Given the description of an element on the screen output the (x, y) to click on. 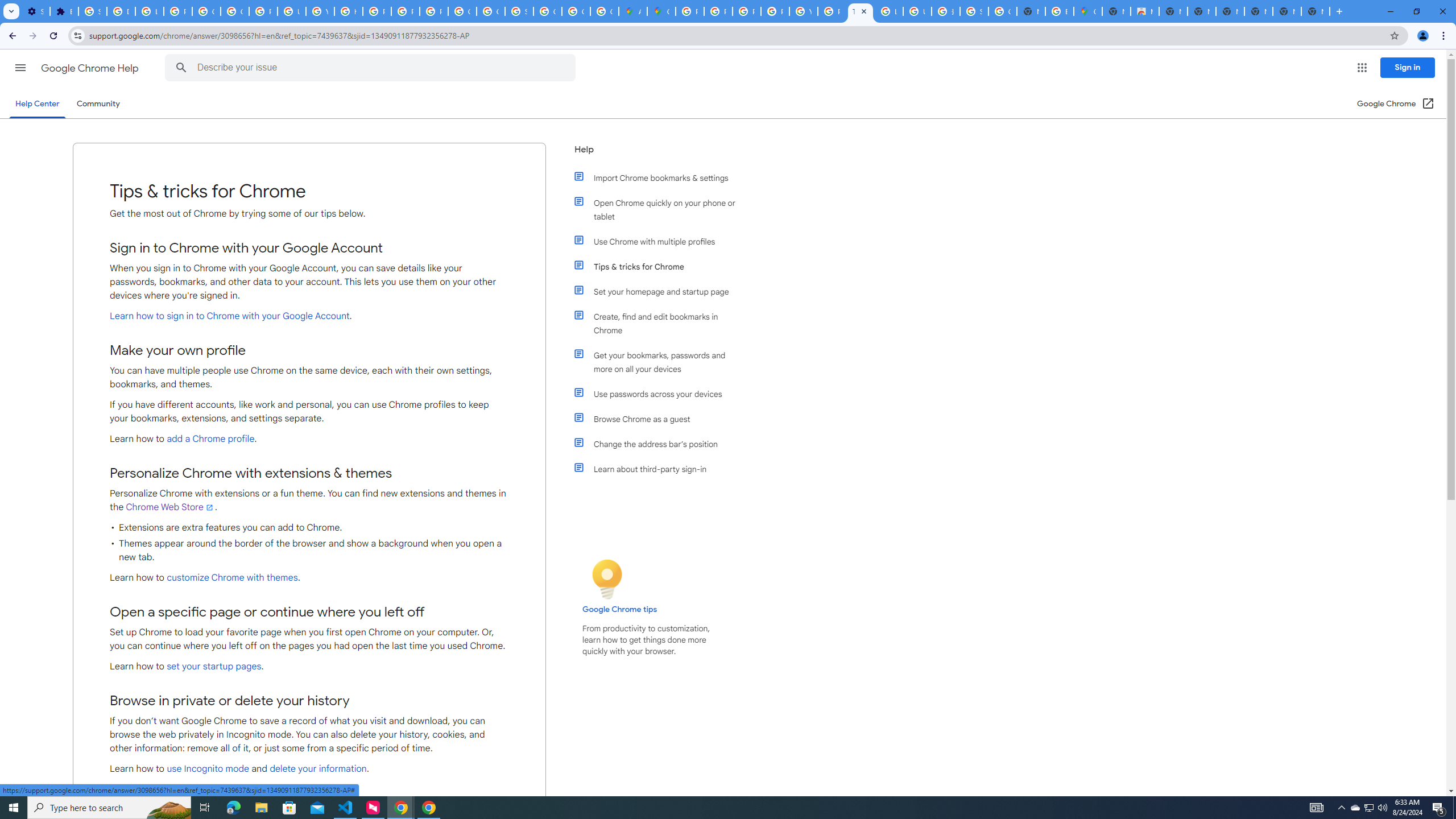
Google Account Help (206, 11)
YouTube (320, 11)
Google Maps (661, 11)
https://scholar.google.com/ (348, 11)
Delete photos & videos - Computer - Google Photos Help (120, 11)
Sign in - Google Accounts (92, 11)
Open Chrome quickly on your phone or tablet (661, 209)
Search Help Center (181, 67)
